Given the description of an element on the screen output the (x, y) to click on. 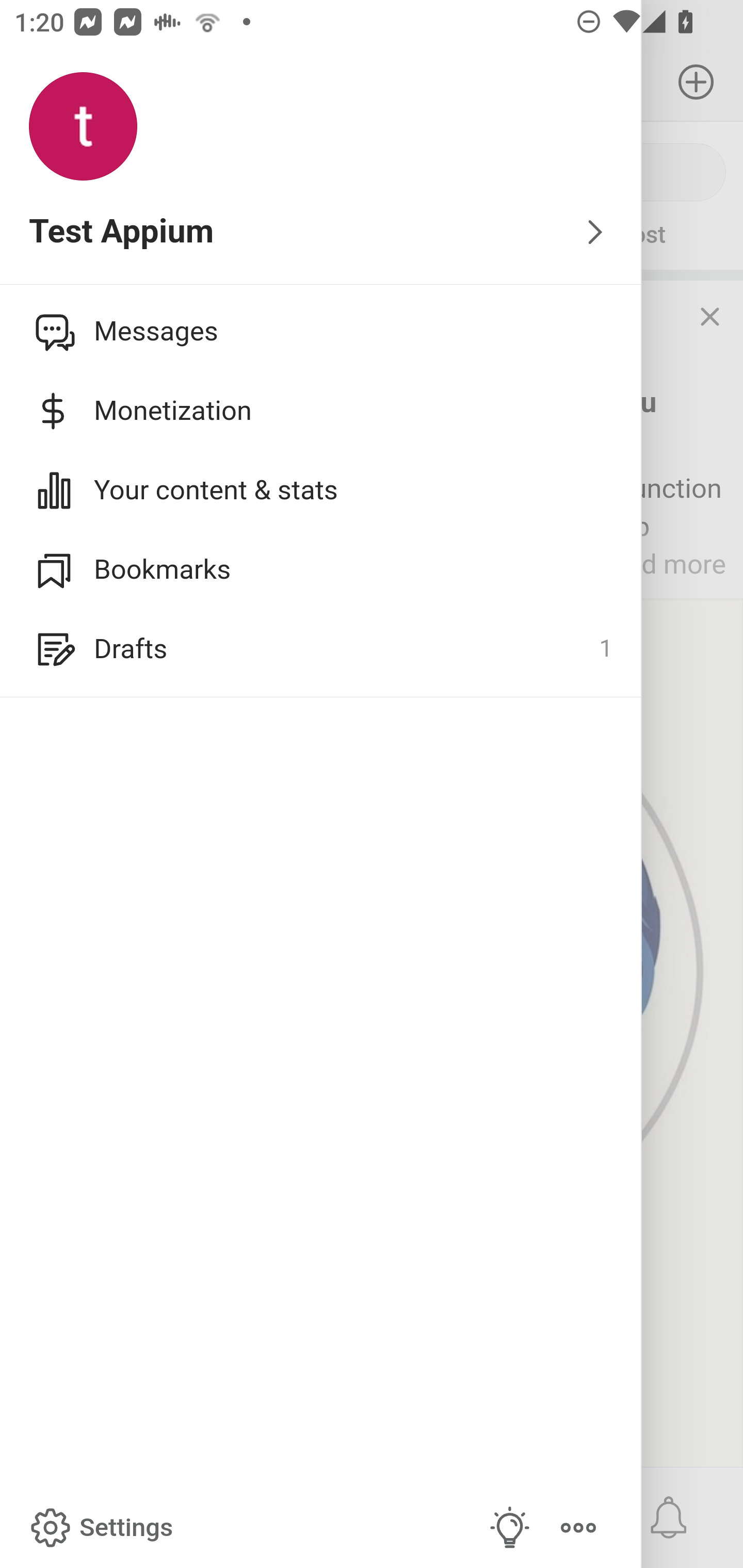
Profile photo for Test Appium (82, 126)
Test Appium (321, 232)
Messages (321, 330)
Icon for Dark Psychology Facts (50, 330)
Monetization (321, 410)
Your content & stats (321, 489)
Bookmarks (321, 568)
Drafts 1 Drafts 1 (321, 648)
1 (605, 648)
Settings (99, 1527)
More (578, 1527)
